Given the description of an element on the screen output the (x, y) to click on. 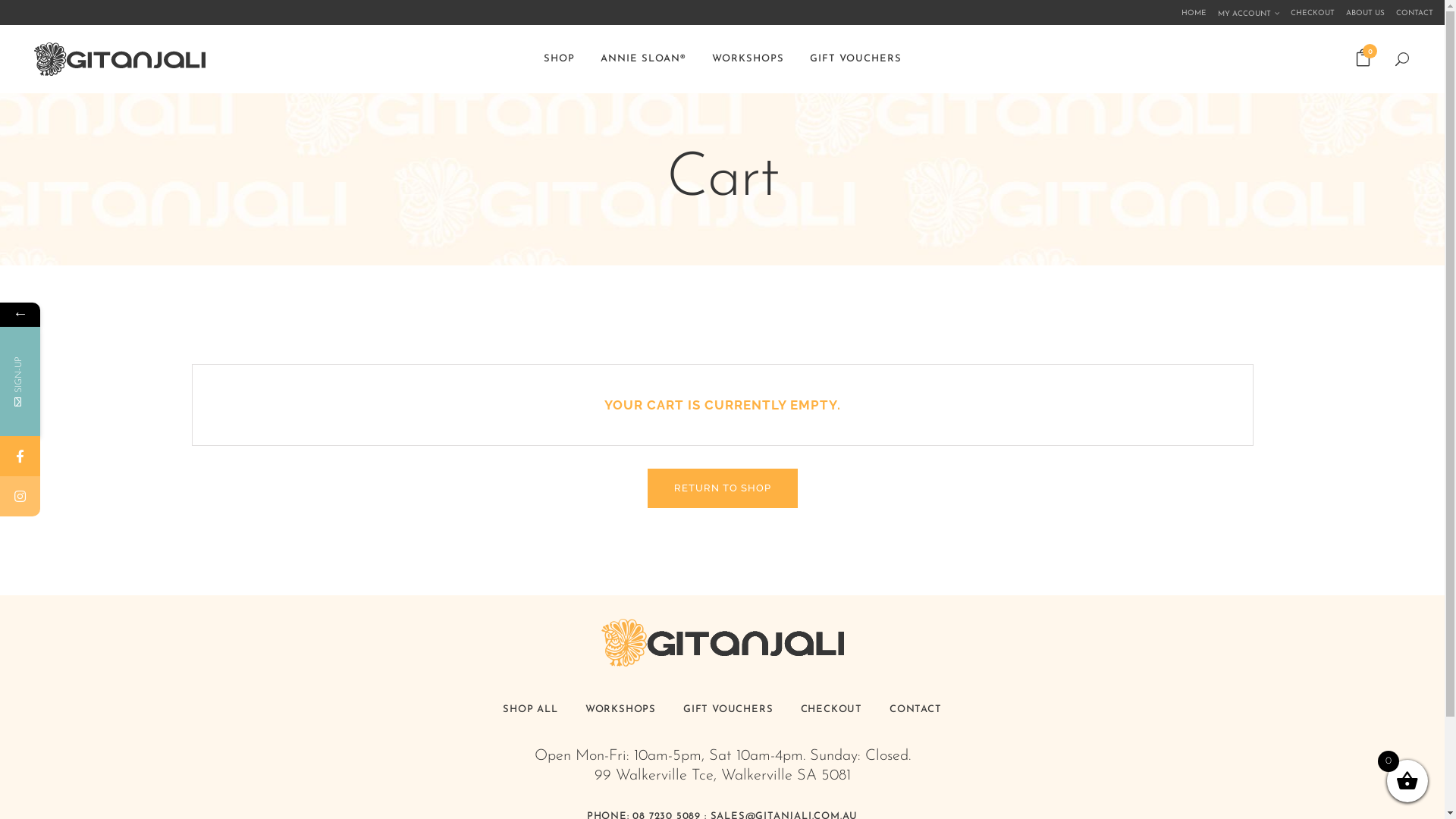
Home Element type: text (1188, 12)
WORKSHOPS Element type: text (620, 708)
About Us Element type: text (1359, 12)
GIFT VOUCHERS Element type: text (854, 59)
My account Element type: text (1242, 12)
Submit Element type: text (91, 510)
RETURN TO SHOP Element type: text (722, 488)
CONTACT Element type: text (915, 708)
WORKSHOPS Element type: text (748, 59)
https://www.facebook.com/gitanjalico99 Element type: hover (20, 456)
Facebook Element type: text (92, 456)
0 Element type: text (1362, 58)
SHOP ALL Element type: text (529, 708)
Contact Element type: text (1408, 12)
Instagram Element type: text (92, 496)
CHECKOUT Element type: text (831, 708)
Checkout Element type: text (1306, 12)
GIFT VOUCHERS Element type: text (727, 708)
https://www.instagram.com/gitanjali_co/ Element type: hover (20, 496)
SHOP Element type: text (558, 59)
